Given the description of an element on the screen output the (x, y) to click on. 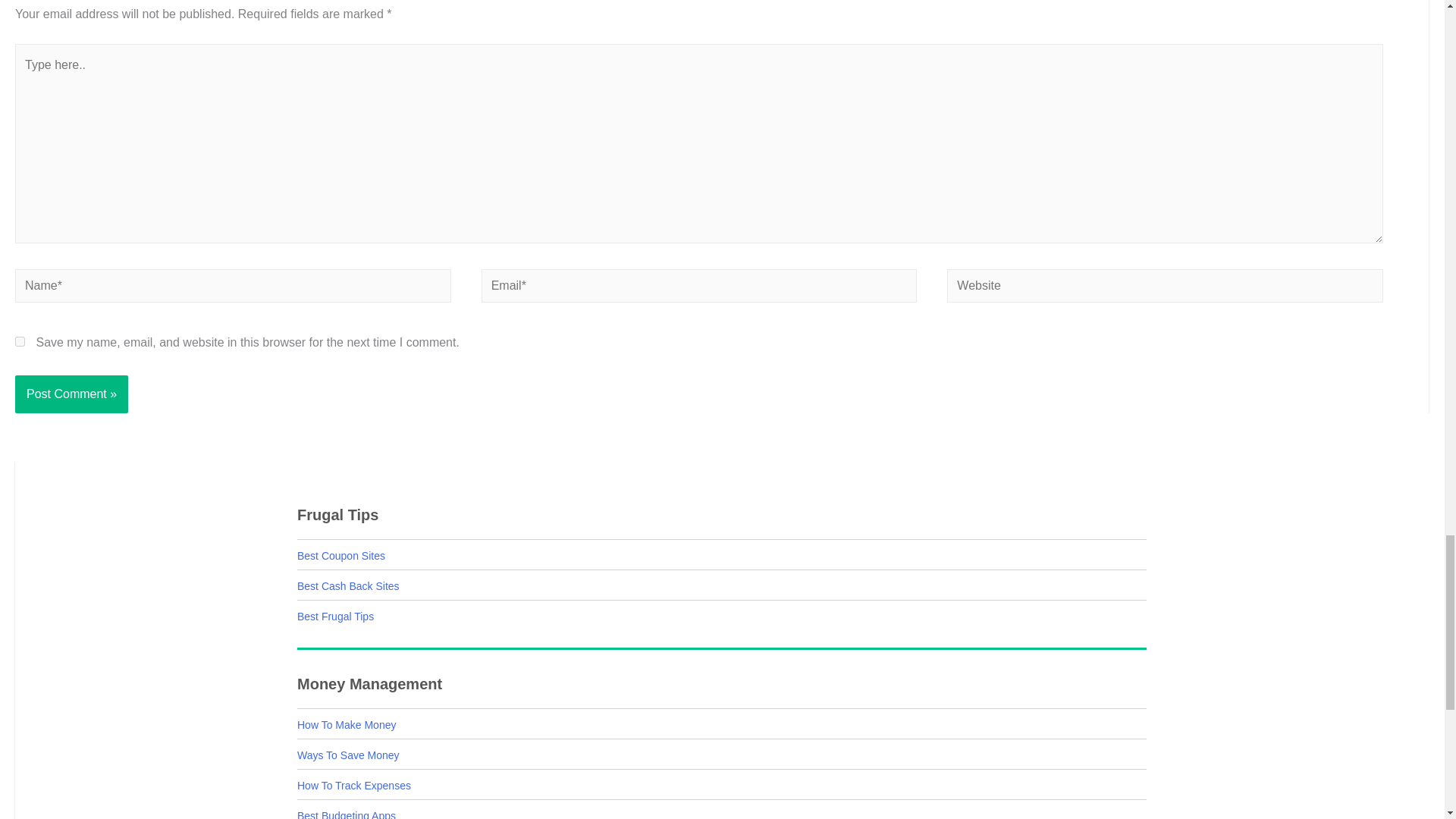
yes (19, 341)
